Given the description of an element on the screen output the (x, y) to click on. 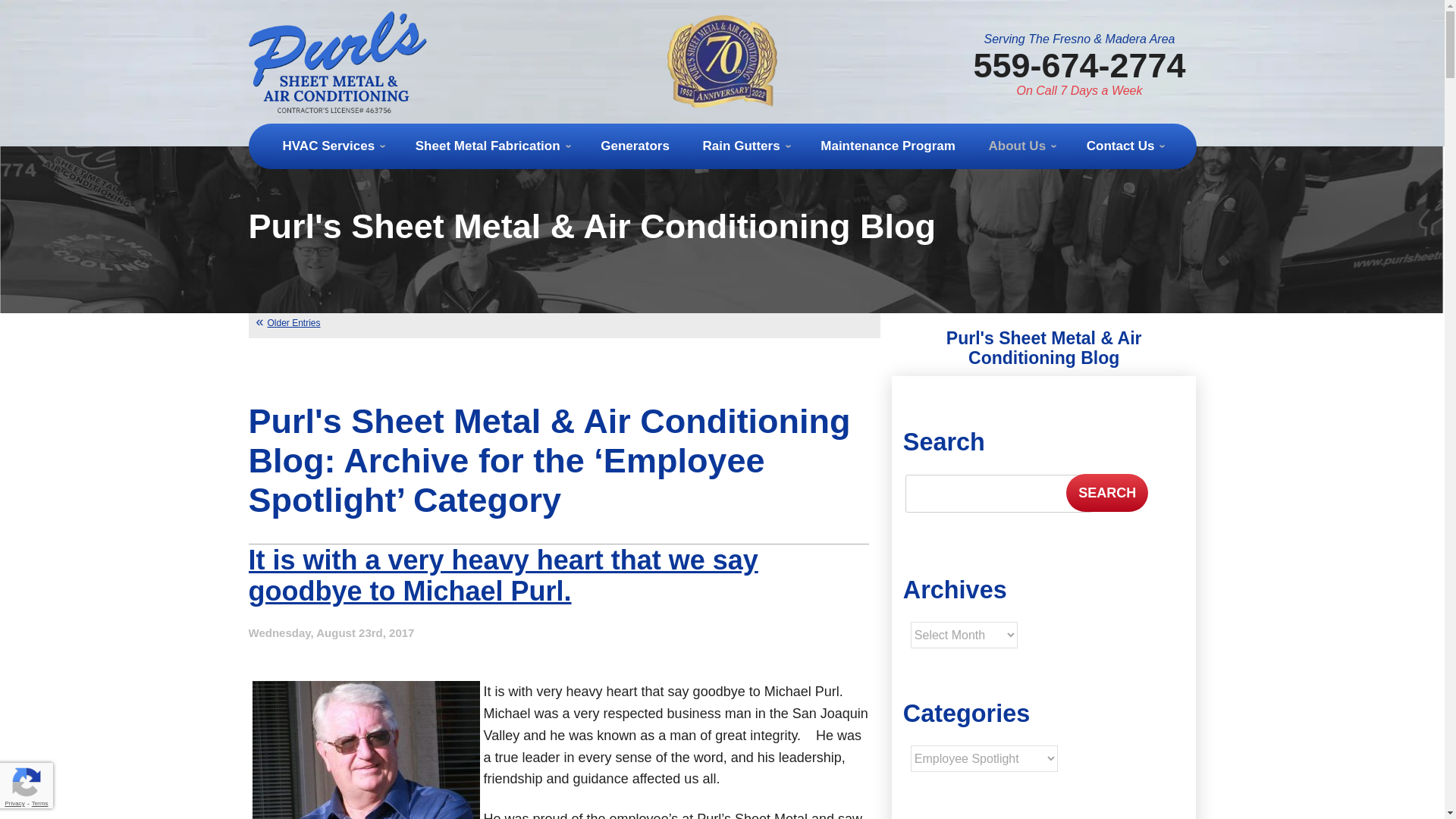
HVAC Services (332, 145)
559-674-2774 (1078, 65)
